Given the description of an element on the screen output the (x, y) to click on. 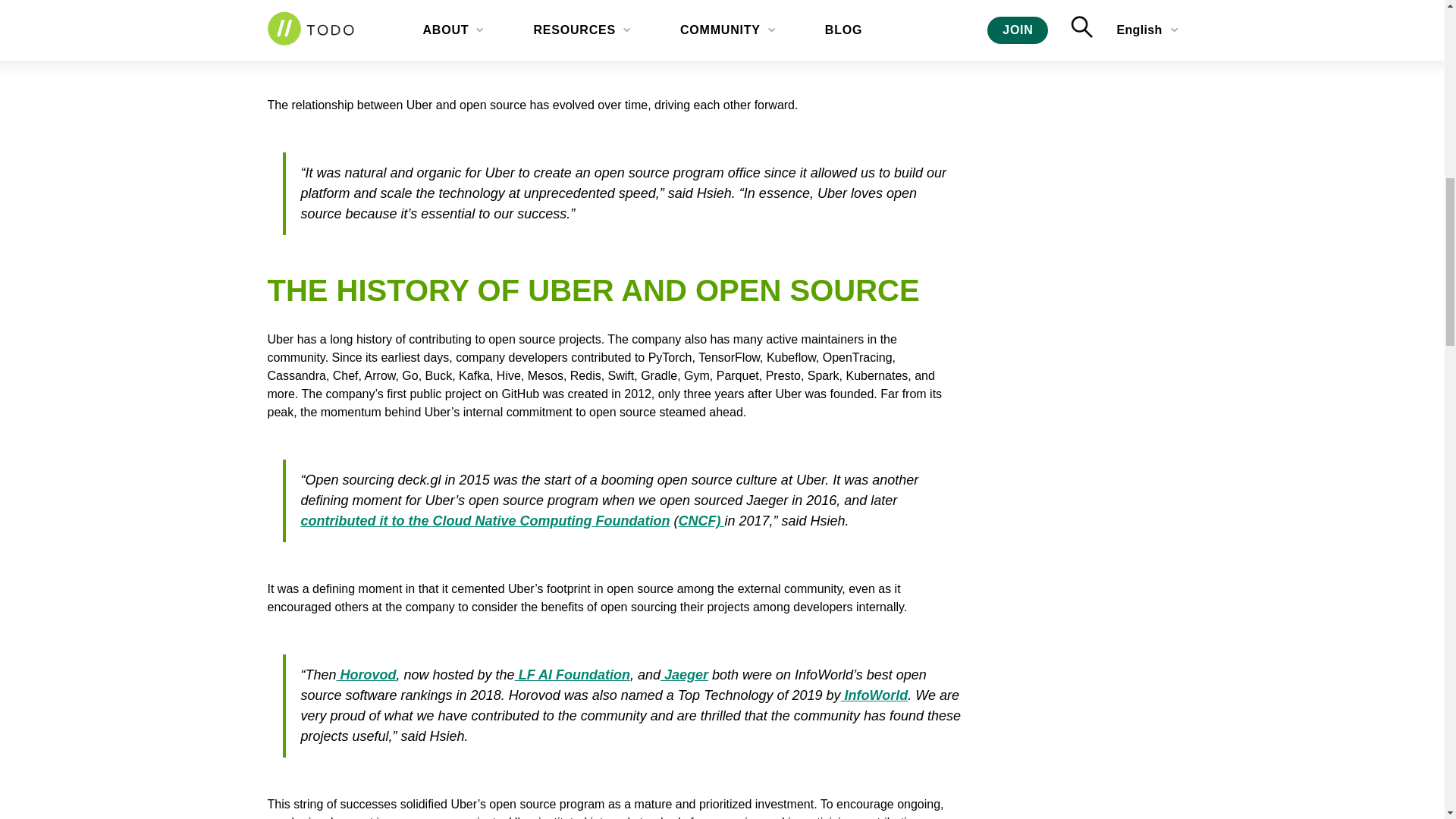
Brian Hsieh (776, 2)
Horovod (402, 37)
Jaeger (345, 37)
Ludwig (464, 37)
